Given the description of an element on the screen output the (x, y) to click on. 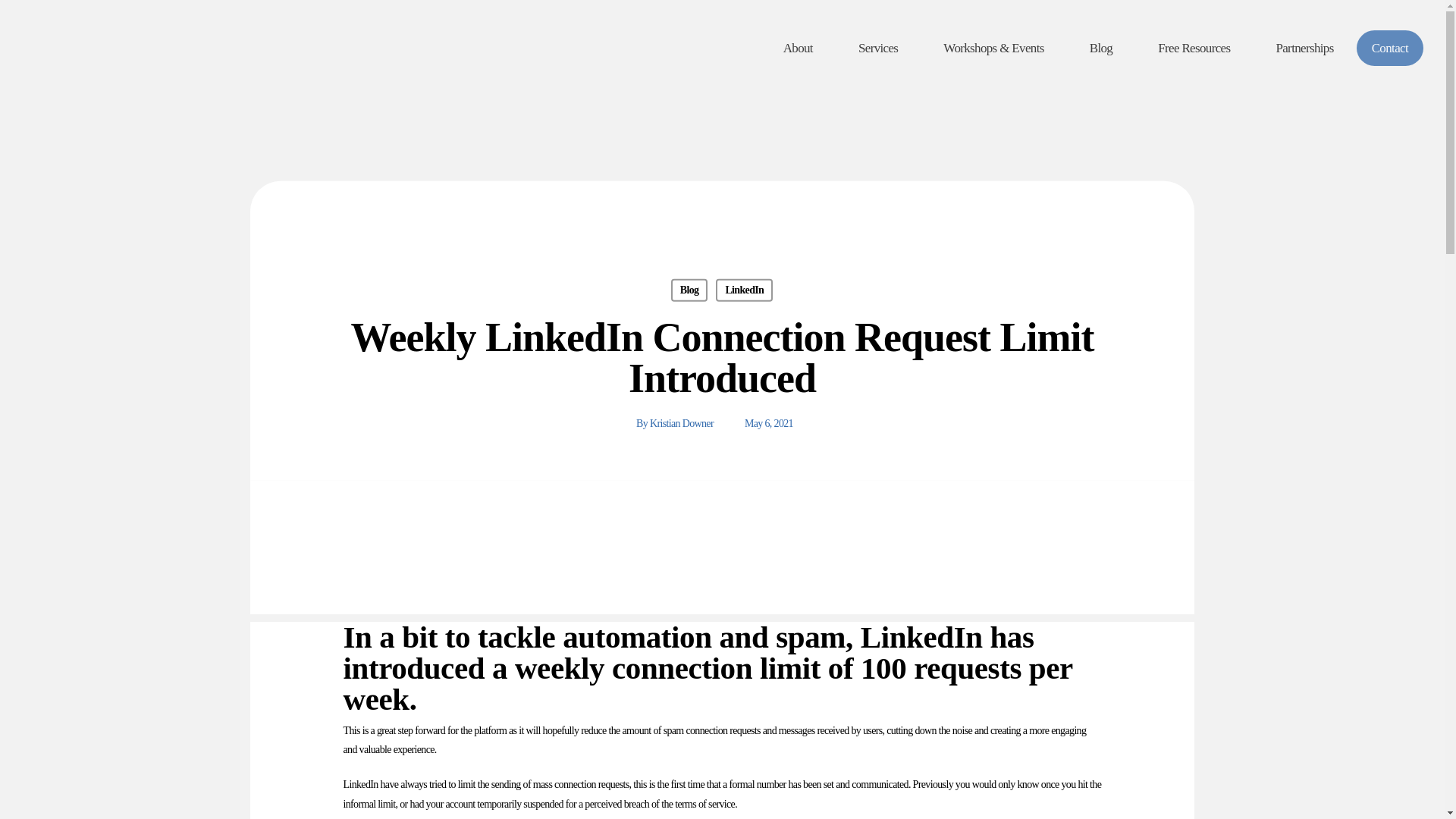
Contact (1389, 48)
About (797, 47)
Posts by Kristian Downer (681, 423)
Services (877, 47)
Blog (689, 290)
Kristian Downer (681, 423)
Partnerships (1303, 47)
Blog (1101, 47)
LinkedIn (744, 290)
Free Resources (1193, 47)
